Given the description of an element on the screen output the (x, y) to click on. 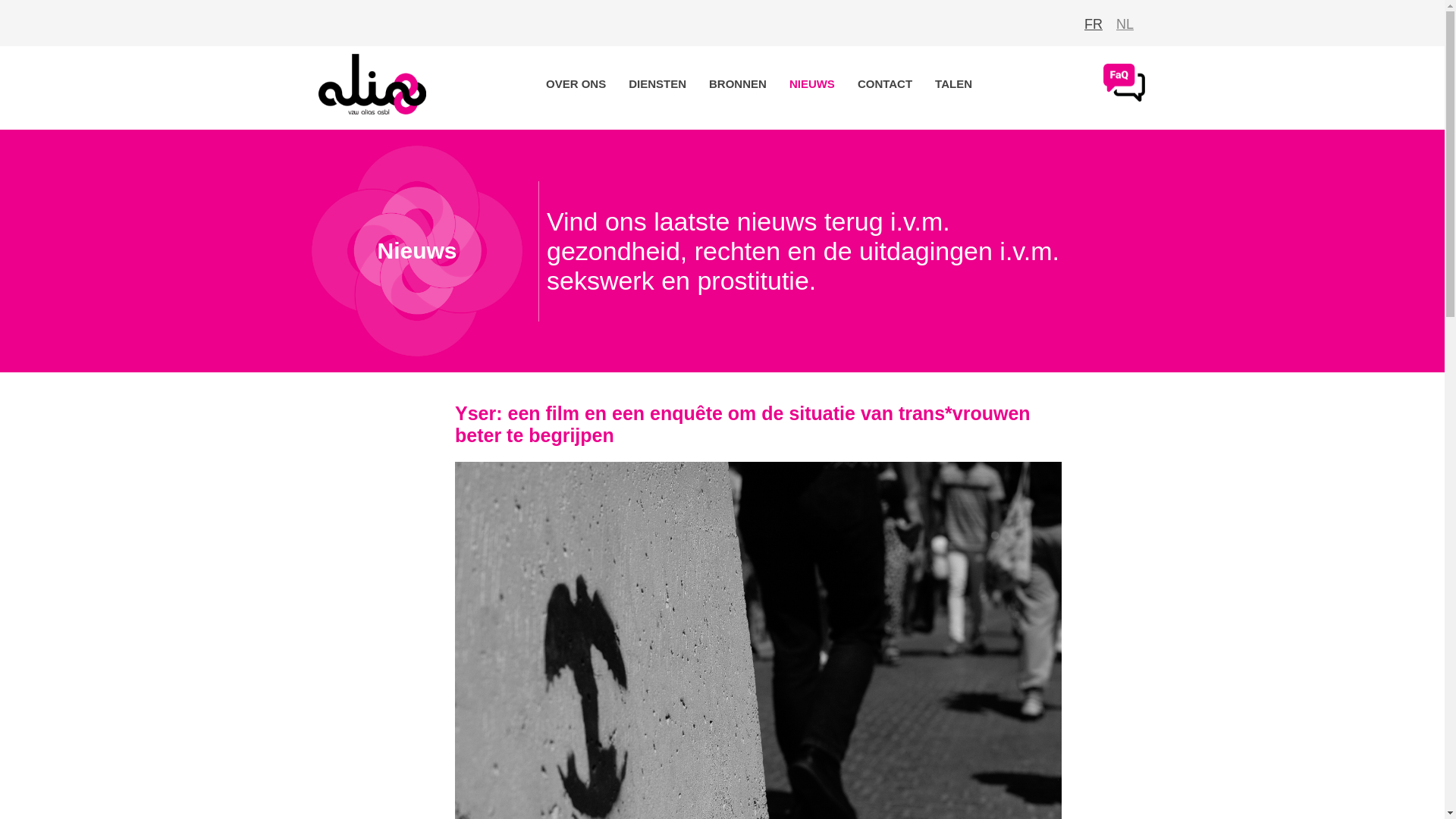
FR Element type: text (1093, 23)
TALEN Element type: text (953, 83)
CONTACT Element type: text (884, 83)
DIENSTEN Element type: text (657, 83)
NIEUWS Element type: text (811, 83)
BRONNEN Element type: text (737, 83)
OVER ONS Element type: text (575, 83)
NL Element type: text (1124, 23)
